Given the description of an element on the screen output the (x, y) to click on. 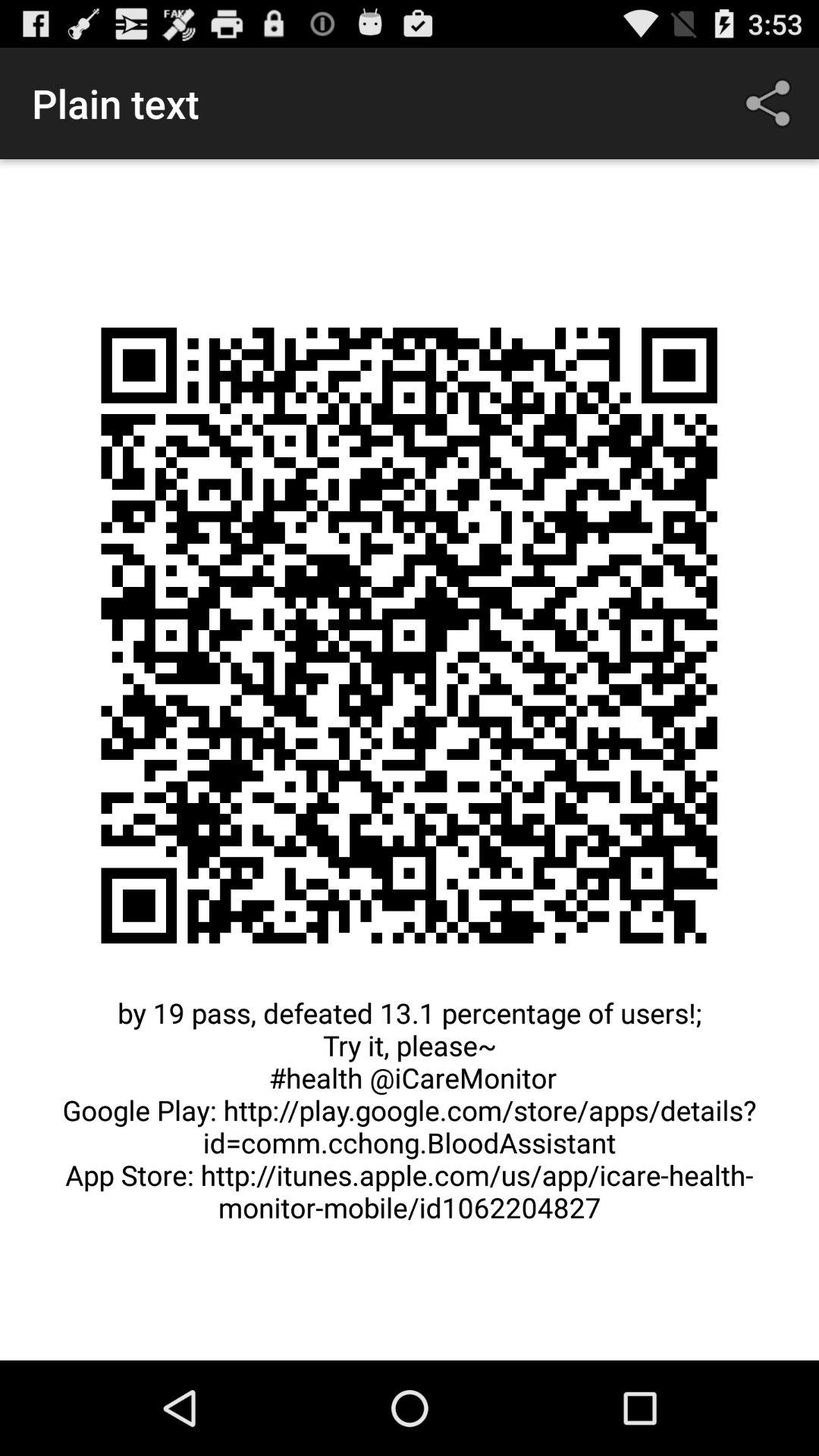
turn off app next to the plain text (771, 103)
